Given the description of an element on the screen output the (x, y) to click on. 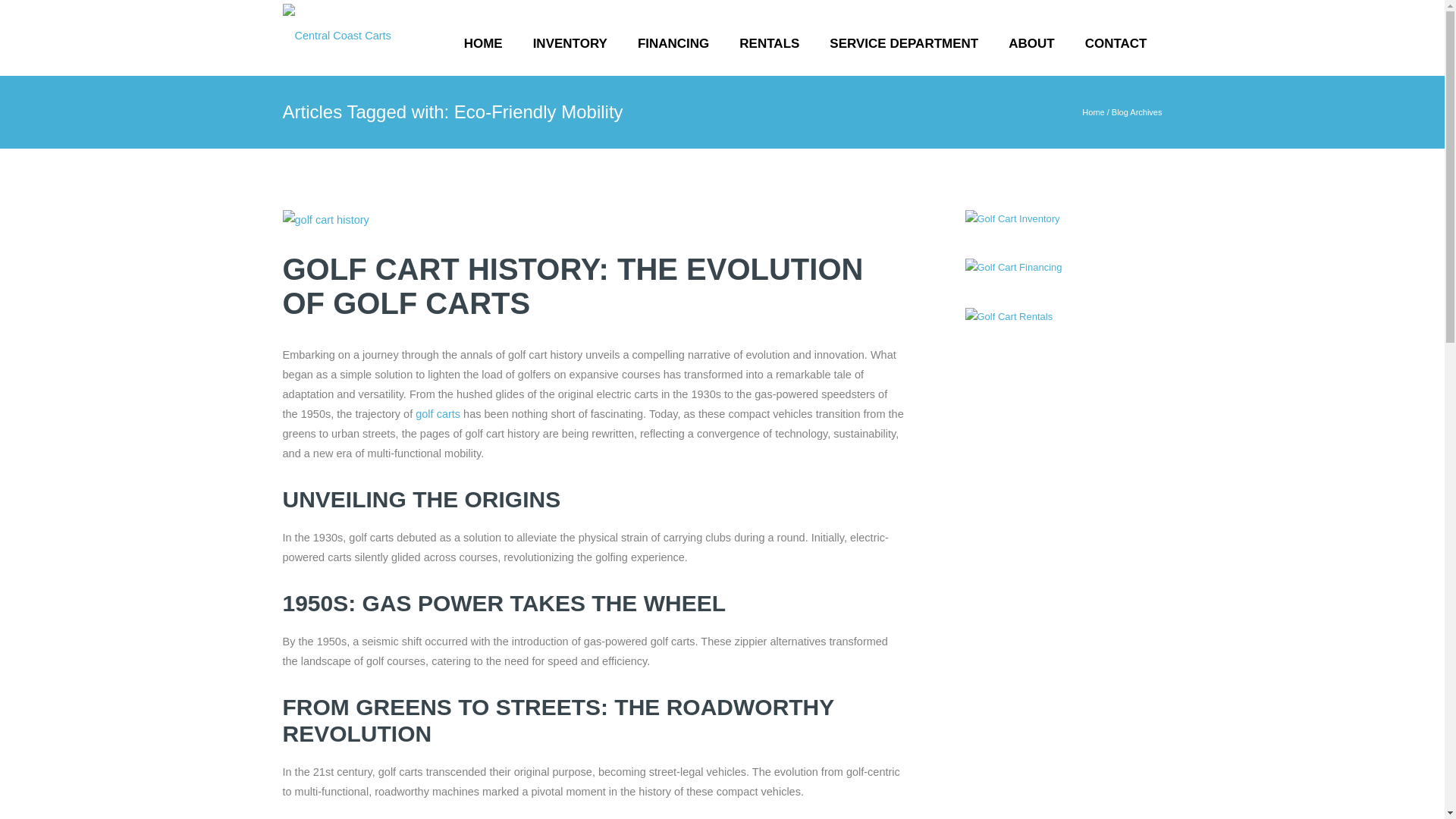
SERVICE DEPARTMENT (902, 43)
FINANCING (673, 43)
CONTACT (1115, 43)
Inventory (570, 43)
HOME (483, 43)
INVENTORY (570, 43)
Home (483, 43)
RENTALS (768, 43)
ABOUT (1030, 43)
